Given the description of an element on the screen output the (x, y) to click on. 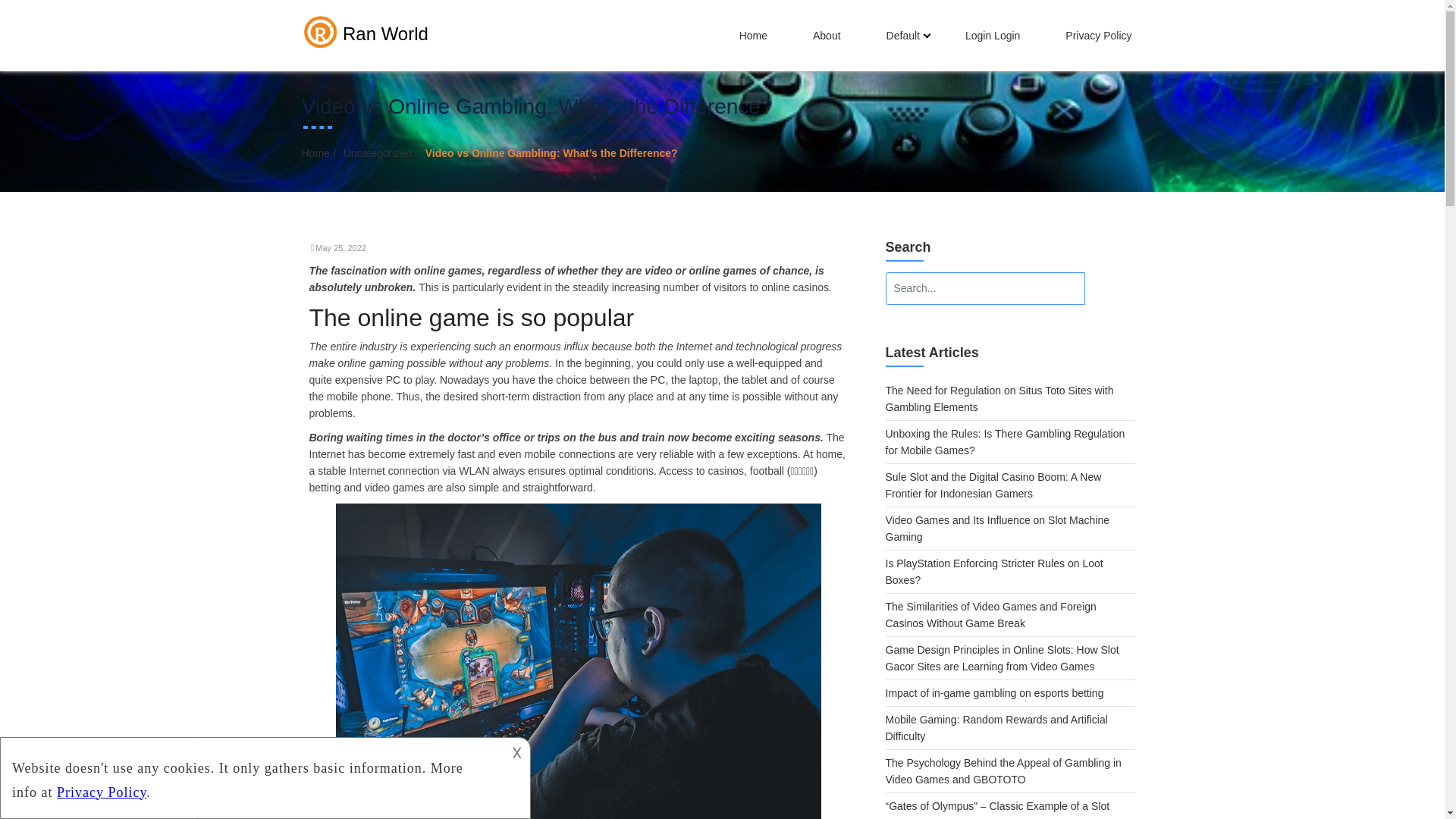
Impact of in-game gambling on esports betting (994, 693)
Default (903, 35)
description (252, 775)
Privacy Policy (1098, 35)
About (826, 35)
Mobile Gaming: Random Rewards and Artificial Difficulty (996, 727)
Video Games and Its Influence on Slot Machine Gaming (997, 528)
Home (315, 152)
